Given the description of an element on the screen output the (x, y) to click on. 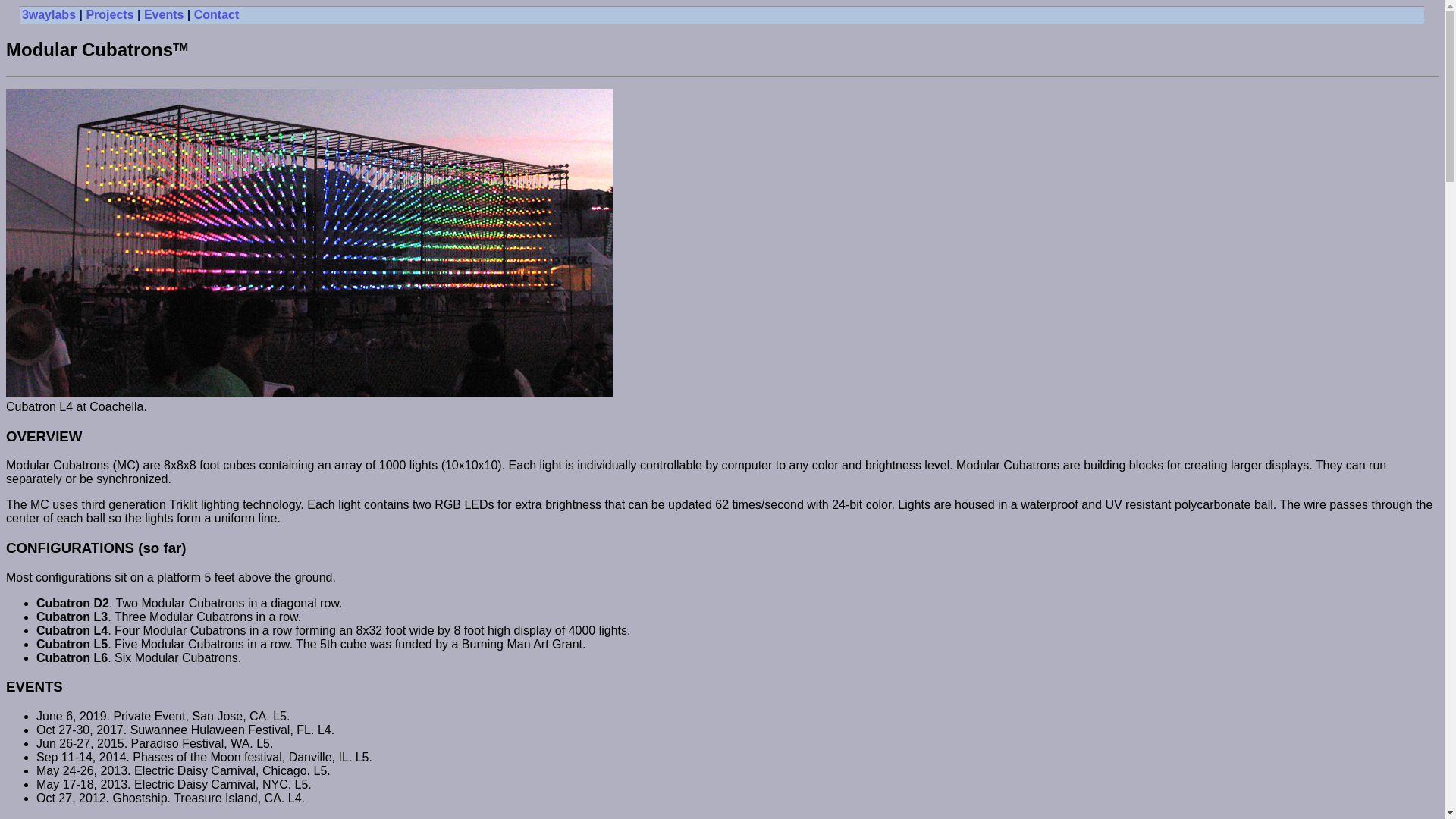
Projects Element type: text (109, 14)
3waylabs Element type: text (48, 14)
Events Element type: text (163, 14)
Contact Element type: text (216, 14)
